Given the description of an element on the screen output the (x, y) to click on. 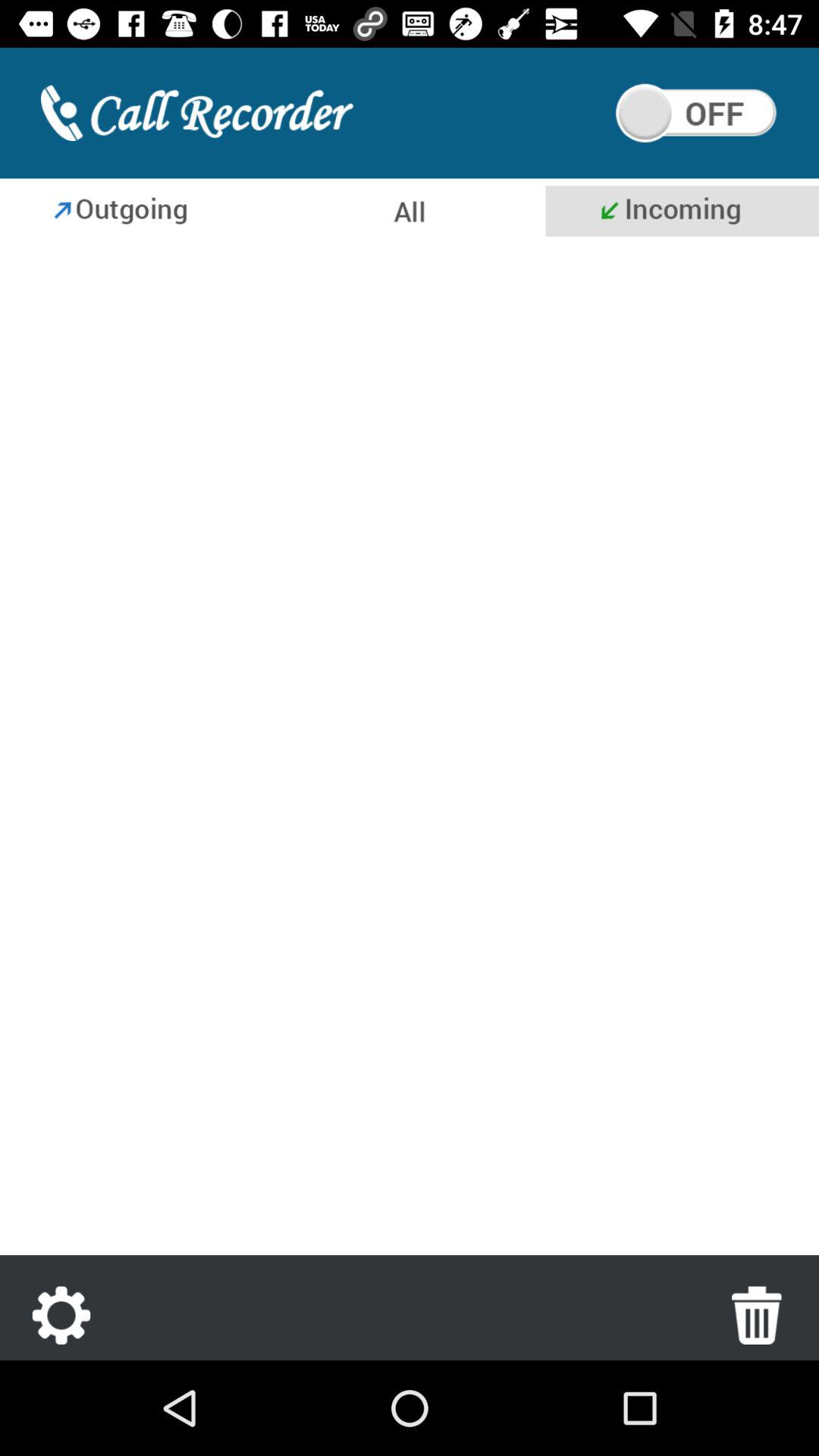
toggle on (696, 112)
